Given the description of an element on the screen output the (x, y) to click on. 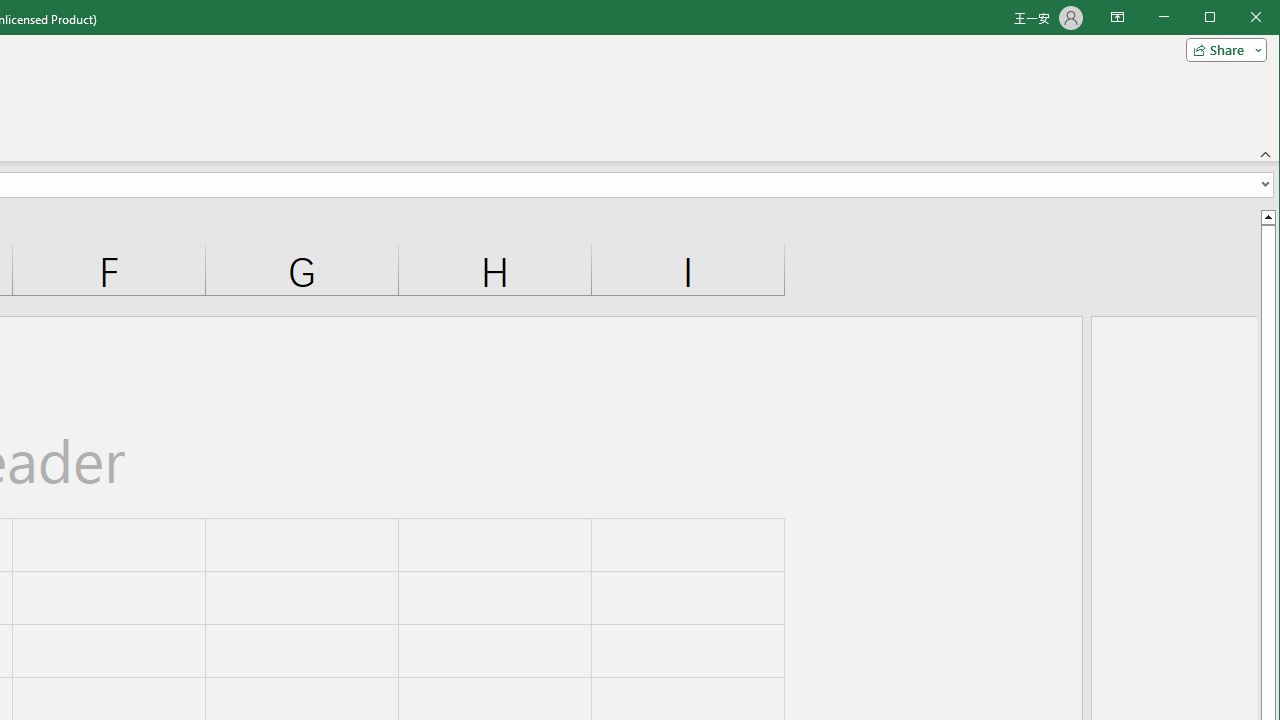
Share (1222, 49)
Maximize (1238, 18)
Collapse the Ribbon (1266, 154)
Line up (1268, 216)
Ribbon Display Options (1117, 17)
